Given the description of an element on the screen output the (x, y) to click on. 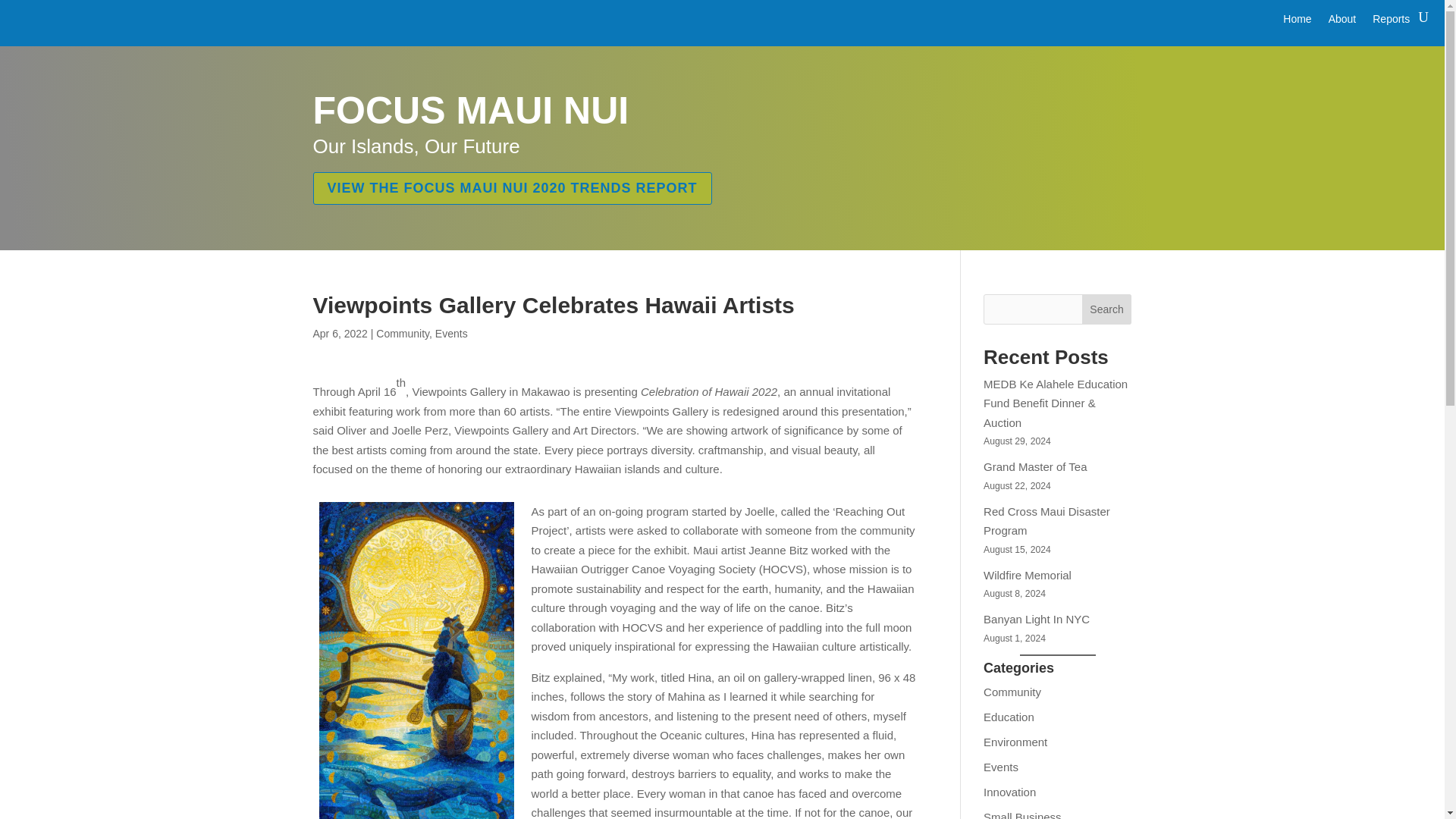
Wildfire Memorial (1027, 574)
Grand Master of Tea (1035, 466)
Events (1000, 766)
Banyan Light In NYC (1036, 618)
VIEW THE FOCUS MAUI NUI 2020 TRENDS REPORT (512, 187)
Environment (1015, 741)
Events (451, 333)
Innovation (1009, 791)
Community (1012, 691)
Community (402, 333)
